Given the description of an element on the screen output the (x, y) to click on. 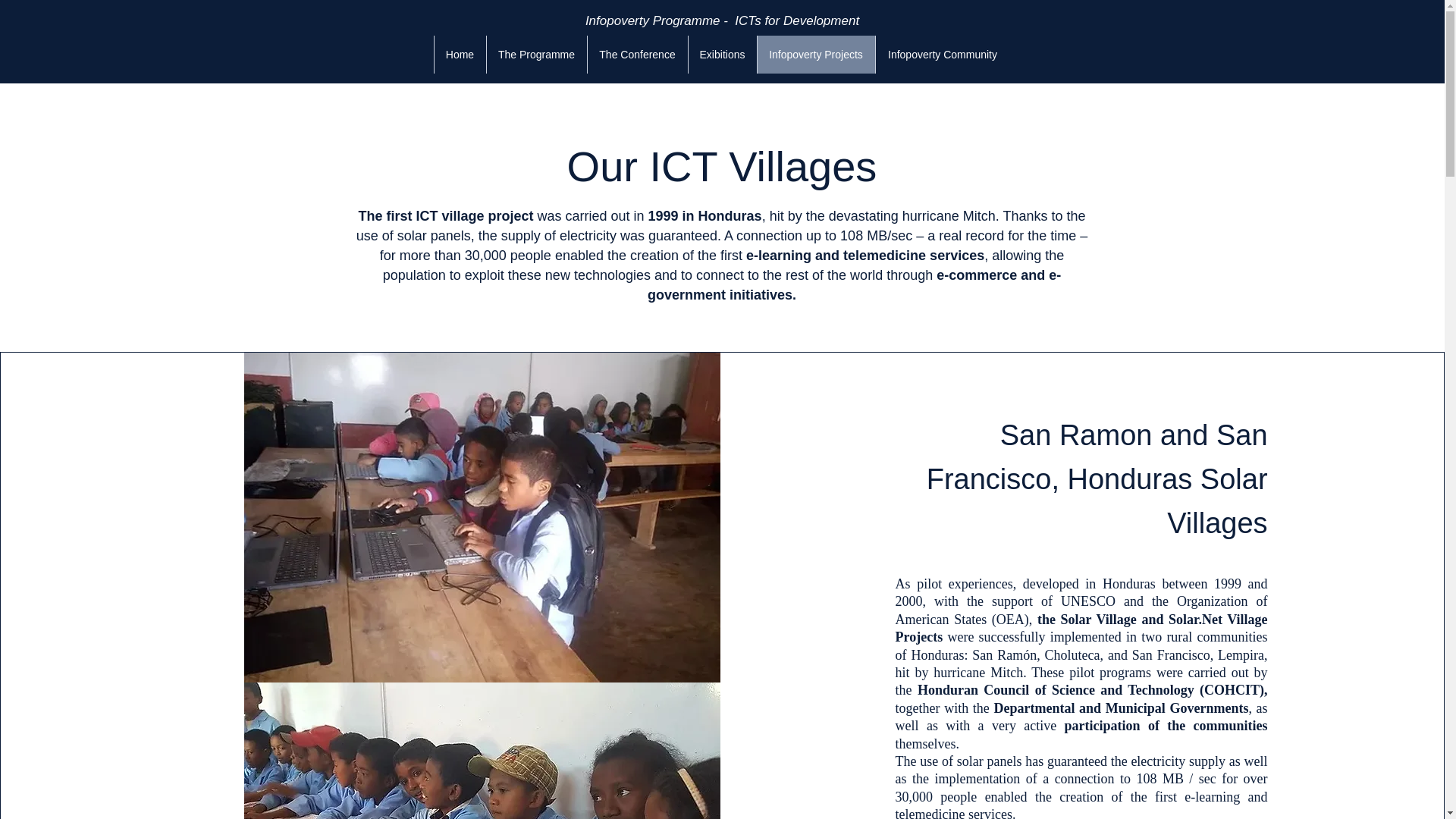
Infopoverty Projects (816, 54)
The Conference (636, 54)
Infopoverty Community (942, 54)
The Programme (535, 54)
Home (459, 54)
